Given the description of an element on the screen output the (x, y) to click on. 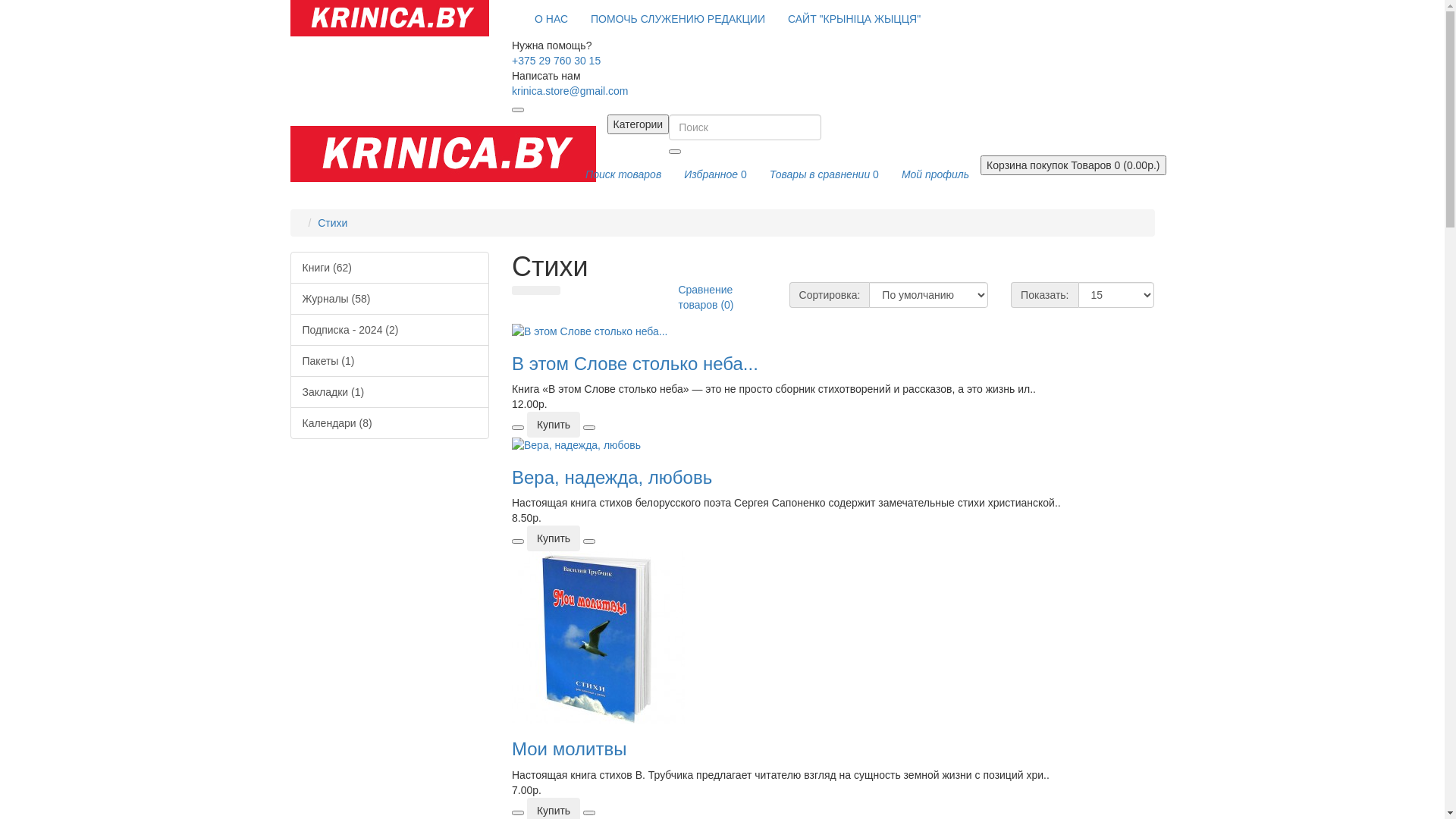
+375 29 760 30 15 Element type: text (555, 60)
krinica.store@gmail.com Element type: text (569, 90)
